Given the description of an element on the screen output the (x, y) to click on. 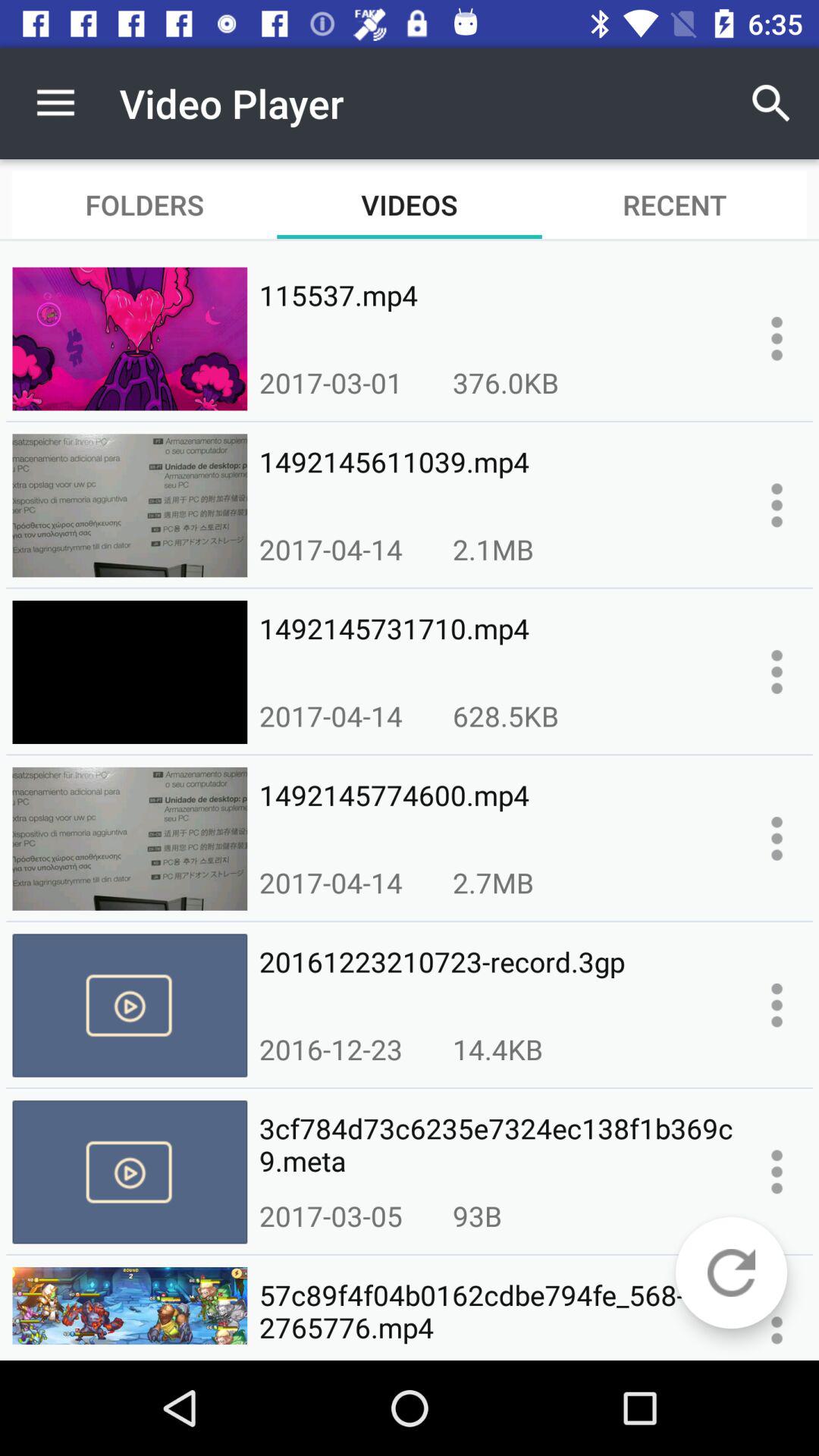
options (776, 838)
